Given the description of an element on the screen output the (x, y) to click on. 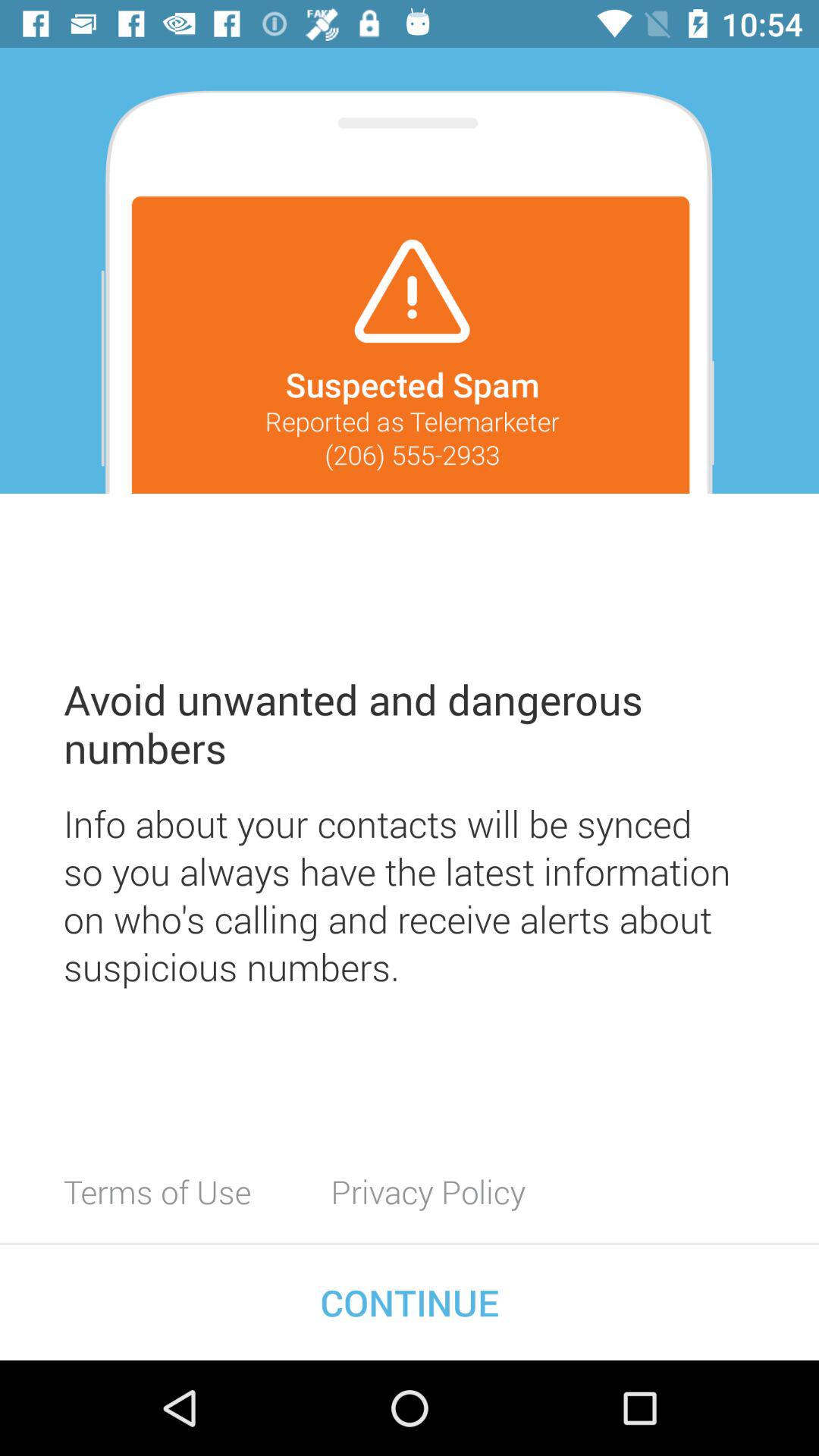
turn off the item to the left of the privacy policy item (157, 1191)
